Given the description of an element on the screen output the (x, y) to click on. 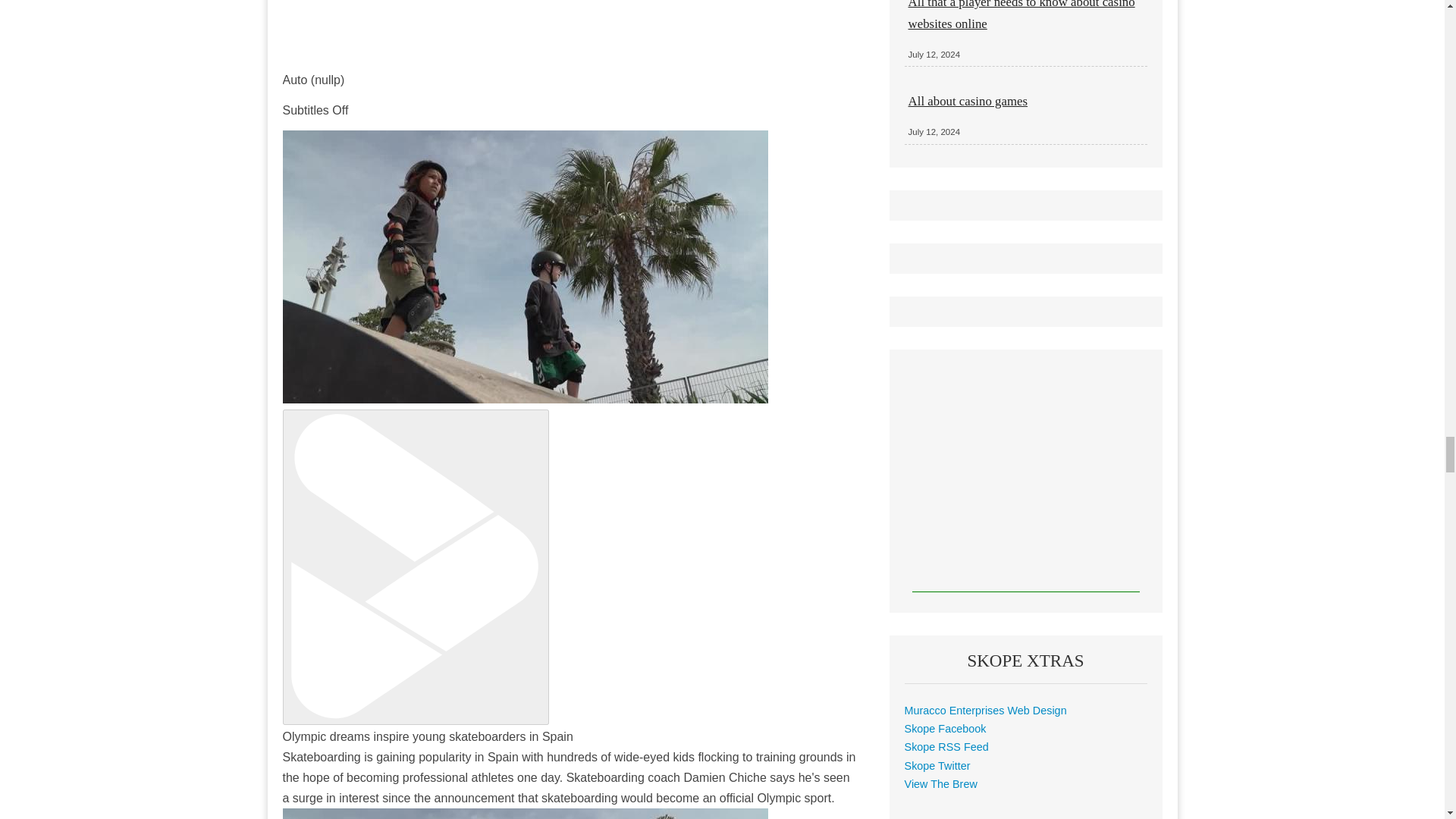
Skopemag.com RSS Feed (946, 746)
